Given the description of an element on the screen output the (x, y) to click on. 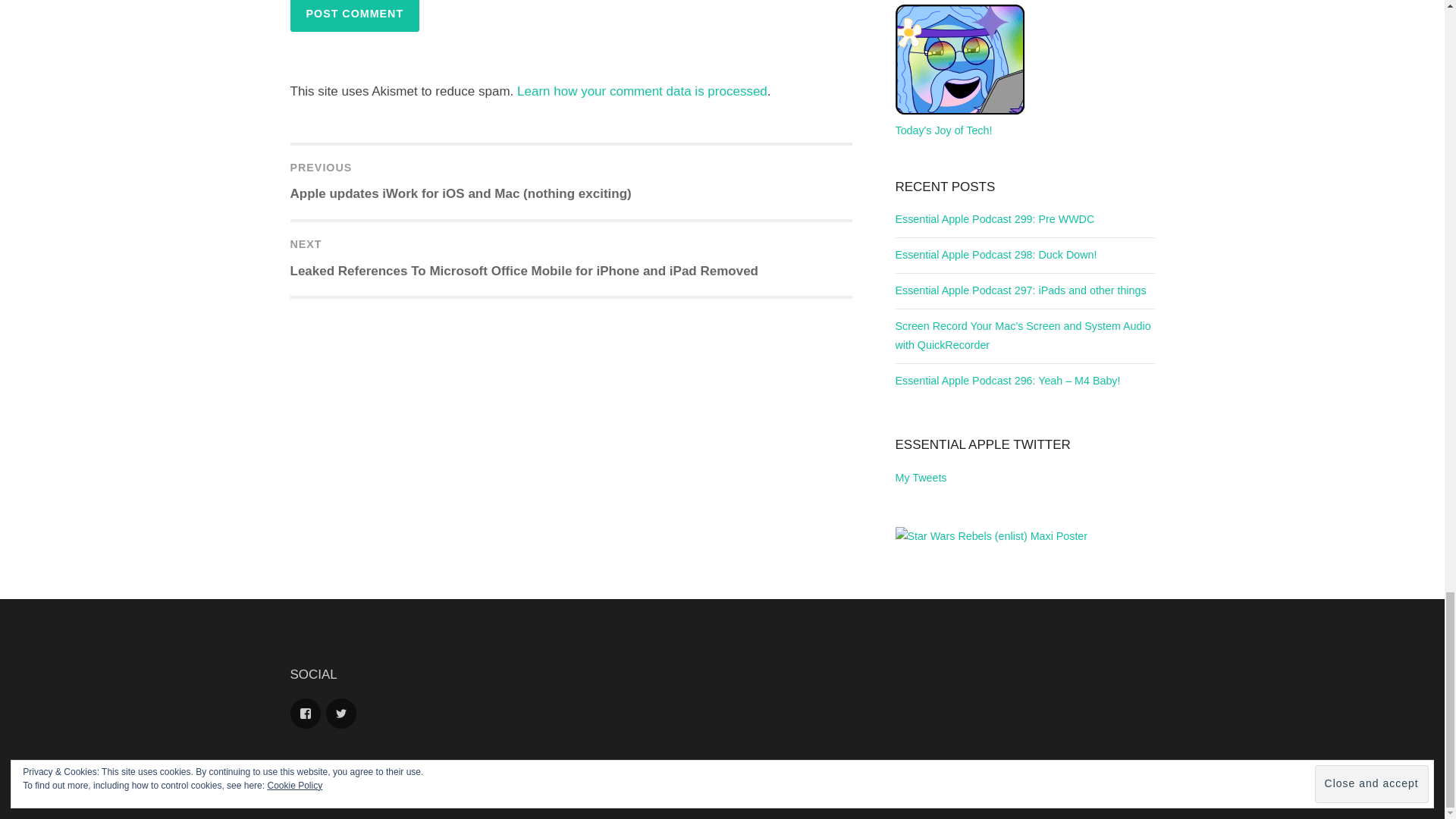
Post Comment (354, 15)
Learn how your comment data is processed (641, 91)
My Tweets (920, 477)
Essential Apple Podcast 299: Pre WWDC (994, 218)
Today's Joy of Tech! (959, 120)
Proudly powered by WordPress (624, 792)
TheFour Lite (778, 792)
Post Comment (354, 15)
Essential Apple Podcast 297: iPads and other things (1020, 290)
Essential Apple Podcast 298: Duck Down! (995, 254)
